Given the description of an element on the screen output the (x, y) to click on. 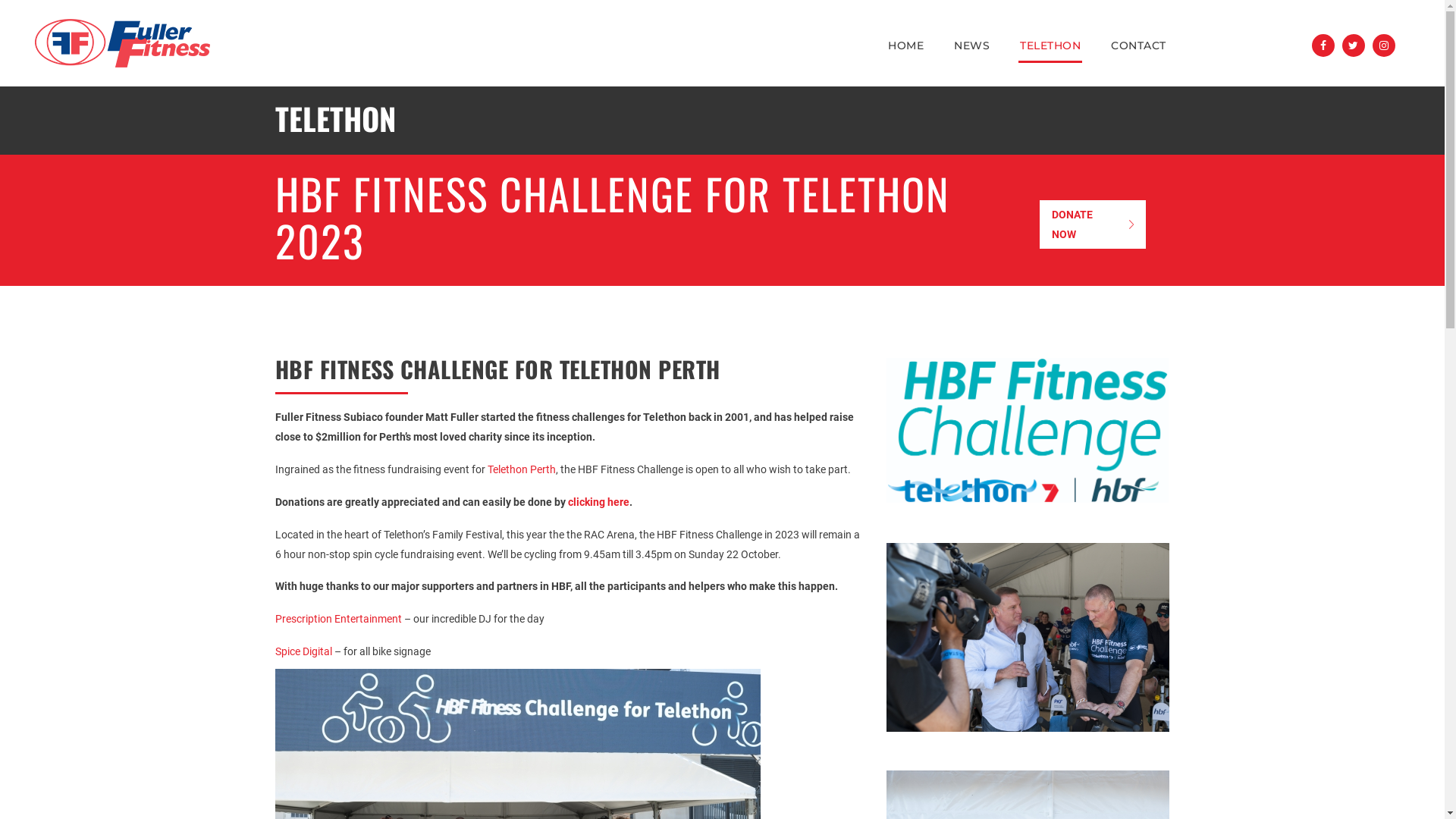
Spice Digital Element type: text (302, 651)
Prescription Entertainment Element type: text (337, 618)
Fuller Fitness Element type: hover (122, 42)
NEWS Element type: text (971, 45)
Telethon Perth Element type: text (520, 469)
CONTACT Element type: text (1138, 45)
DONATE NOW Element type: text (1092, 224)
HOME Element type: text (905, 45)
clicking here Element type: text (597, 501)
TELETHON Element type: text (1050, 45)
